Given the description of an element on the screen output the (x, y) to click on. 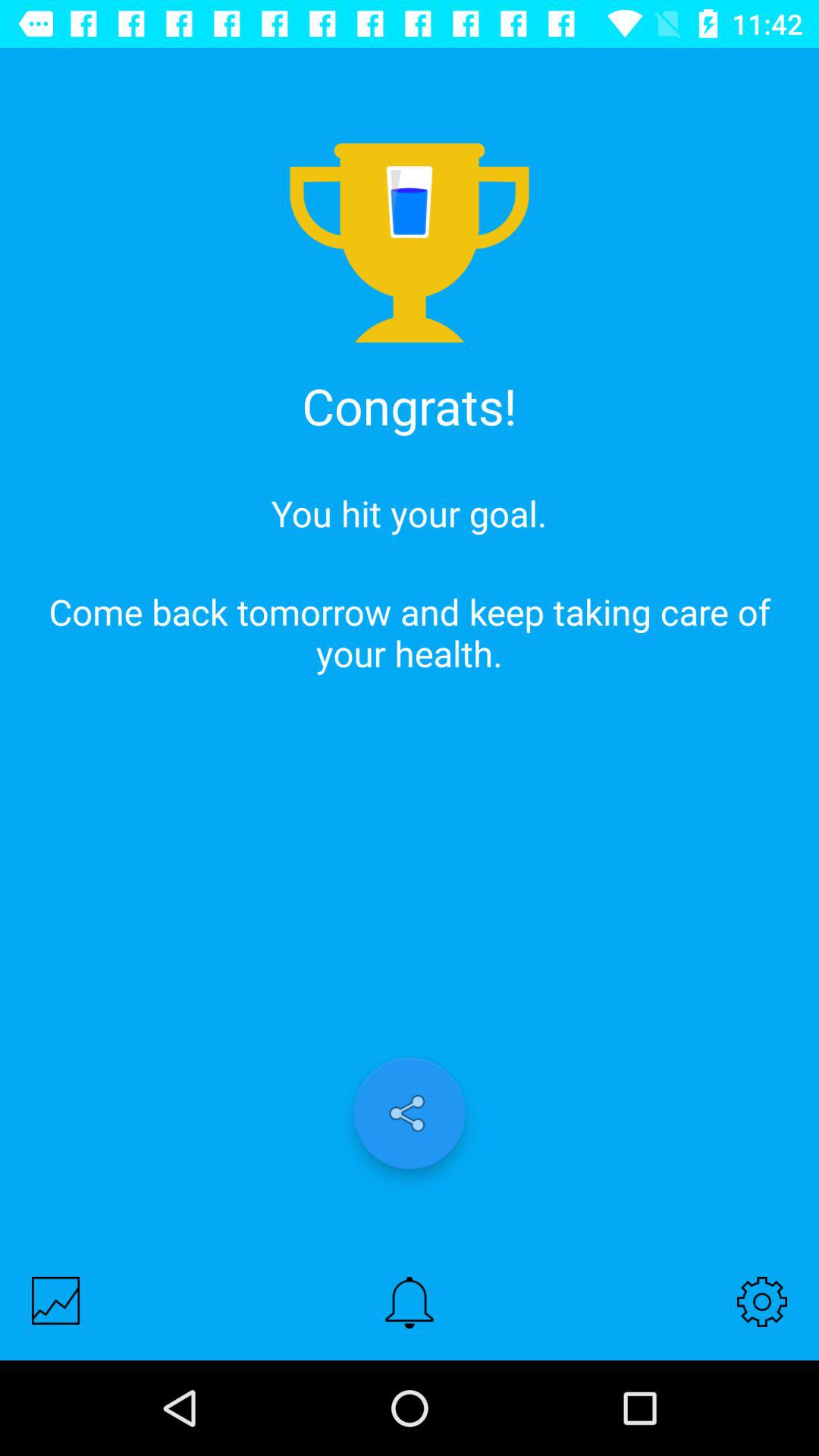
select the item at the bottom left corner (55, 1300)
